Given the description of an element on the screen output the (x, y) to click on. 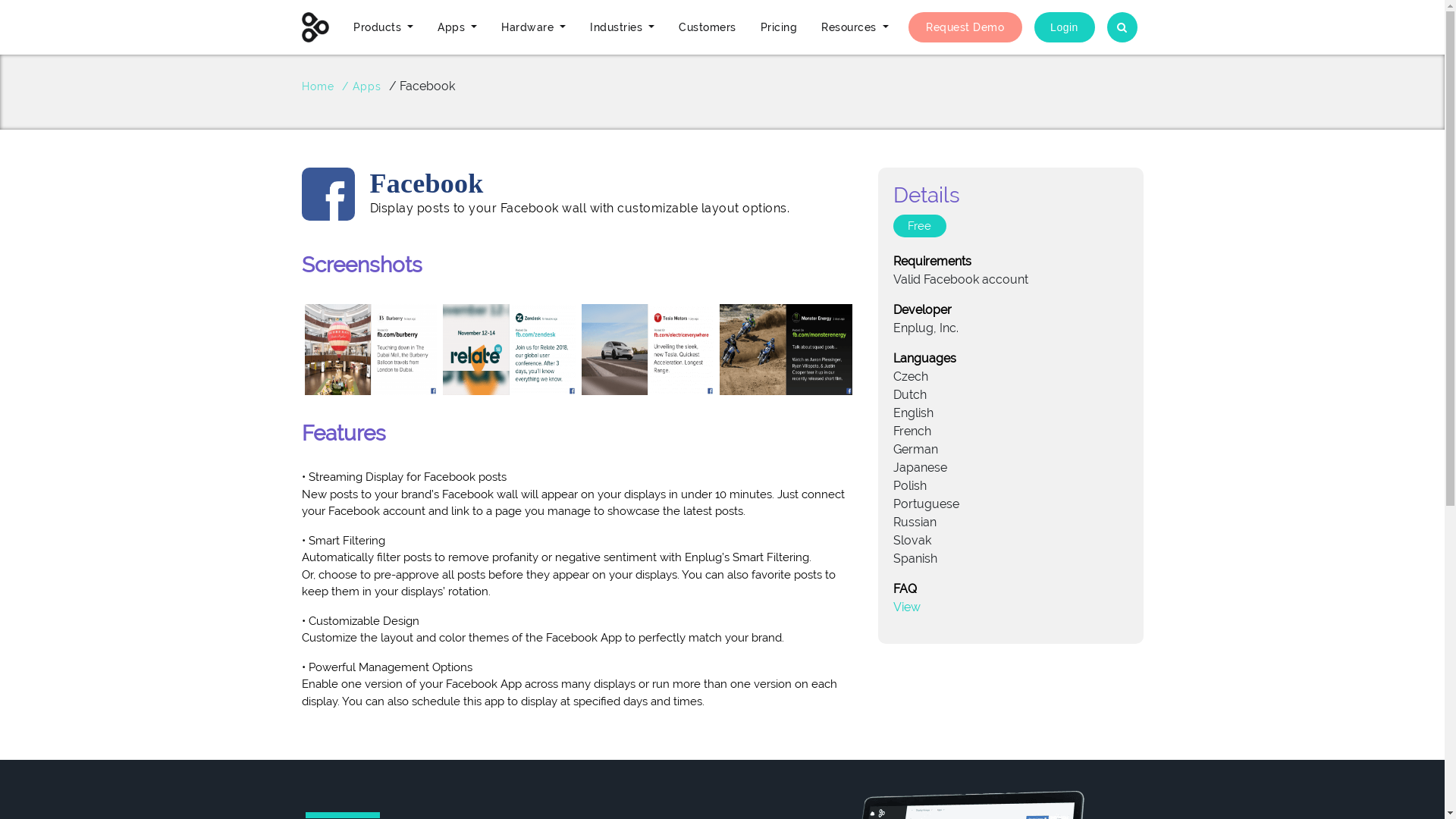
Home Element type: text (317, 86)
Industries Element type: text (621, 27)
View Element type: text (906, 606)
/ Apps Element type: text (360, 86)
Products Element type: text (383, 27)
Resources Element type: text (854, 27)
Login Element type: text (1064, 27)
Request Demo Element type: text (965, 27)
Hardware Element type: text (533, 27)
Apps Element type: text (457, 27)
Pricing Element type: text (778, 27)
Customers Element type: text (707, 27)
